Given the description of an element on the screen output the (x, y) to click on. 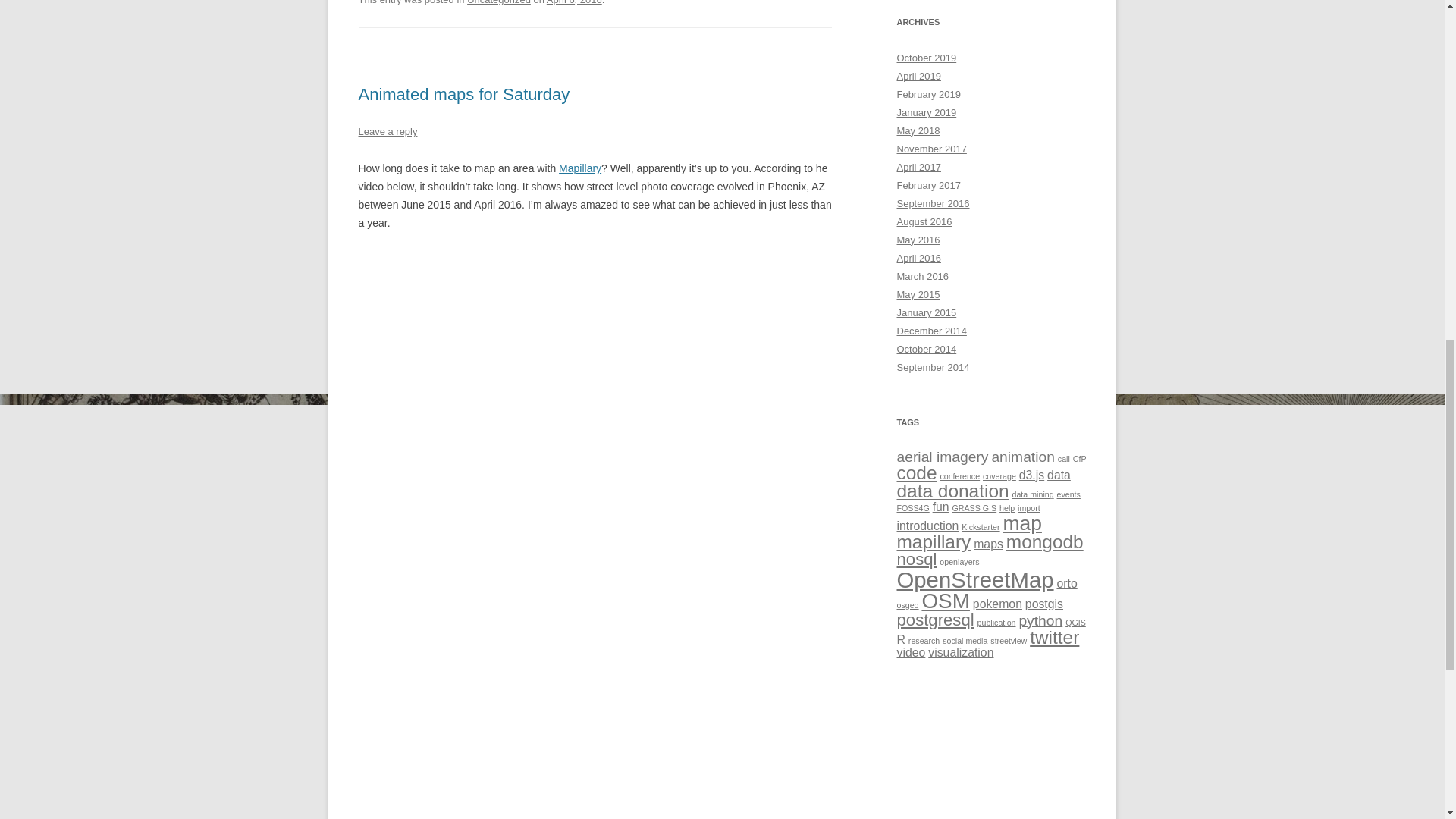
Mapillary (580, 168)
10:08 pm (574, 2)
Uncategorized (499, 2)
Leave a reply (387, 131)
April 6, 2016 (574, 2)
Animated maps for Saturday (463, 94)
